Given the description of an element on the screen output the (x, y) to click on. 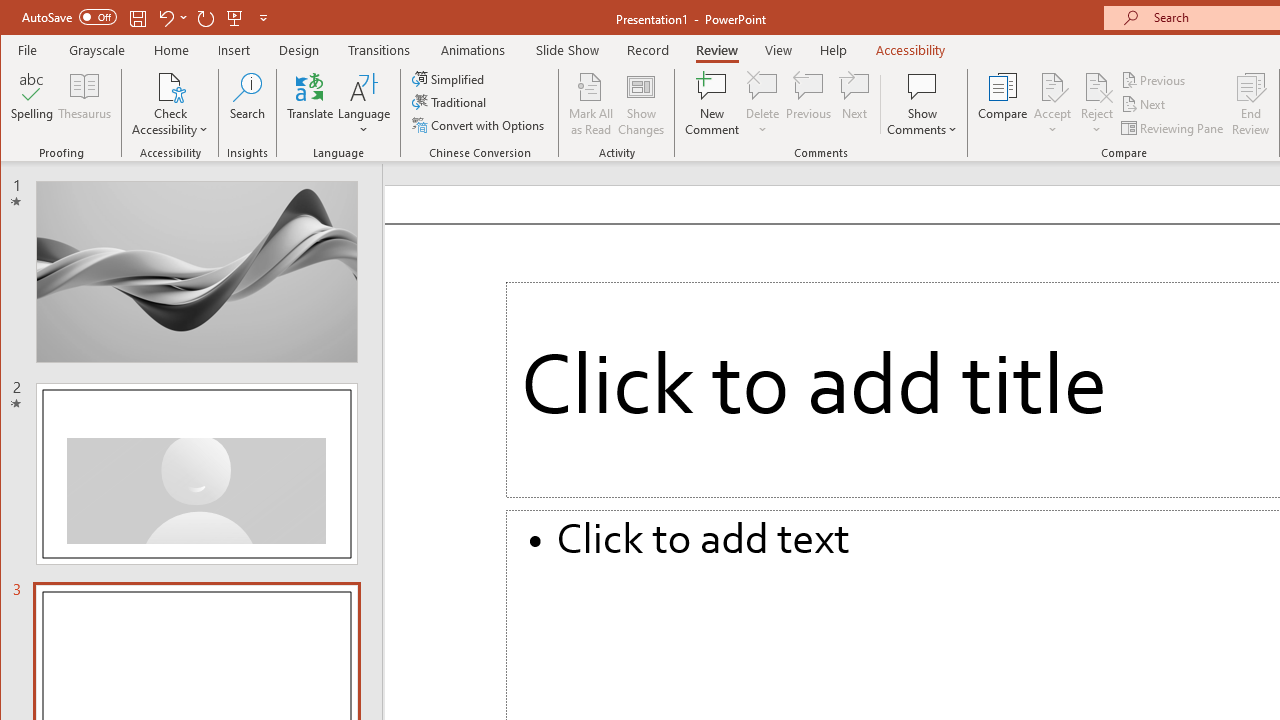
Reject Change (1096, 86)
Accept (1052, 104)
